Given the description of an element on the screen output the (x, y) to click on. 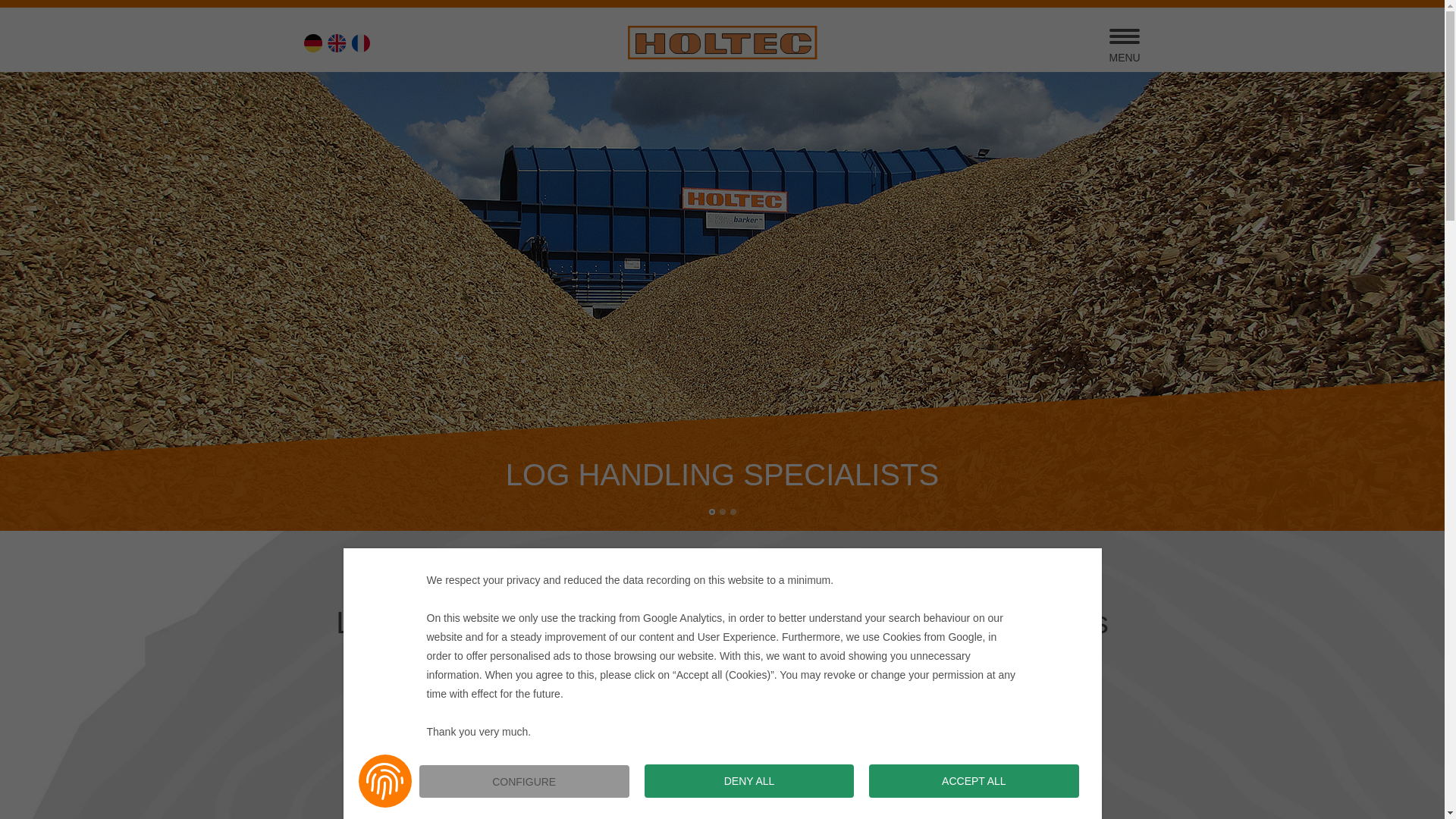
MENU (1123, 44)
